Given the description of an element on the screen output the (x, y) to click on. 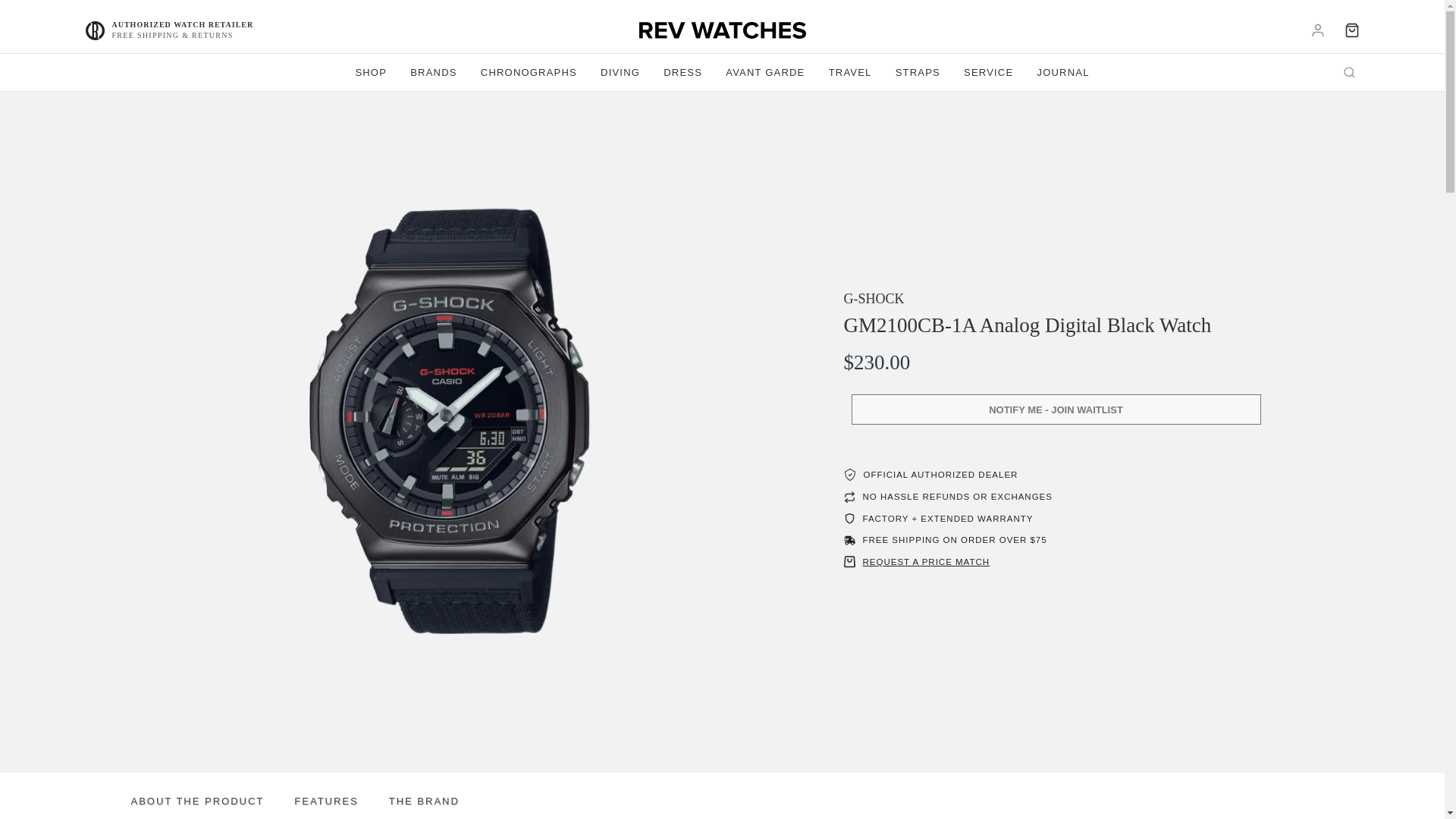
JOURNAL (1062, 72)
BRANDS (433, 72)
CHRONOGRAPHS (528, 72)
ABOUT THE PRODUCT (212, 801)
STRAPS (917, 72)
G-SHOCK (873, 298)
TRAVEL (849, 72)
DRESS (683, 72)
DIVING (619, 72)
FEATURES (341, 801)
AVANT GARDE (765, 72)
REQUEST A PRICE MATCH (926, 561)
SERVICE (988, 72)
SHOP (370, 72)
NOTIFY ME - JOIN WAITLIST (1055, 409)
